Given the description of an element on the screen output the (x, y) to click on. 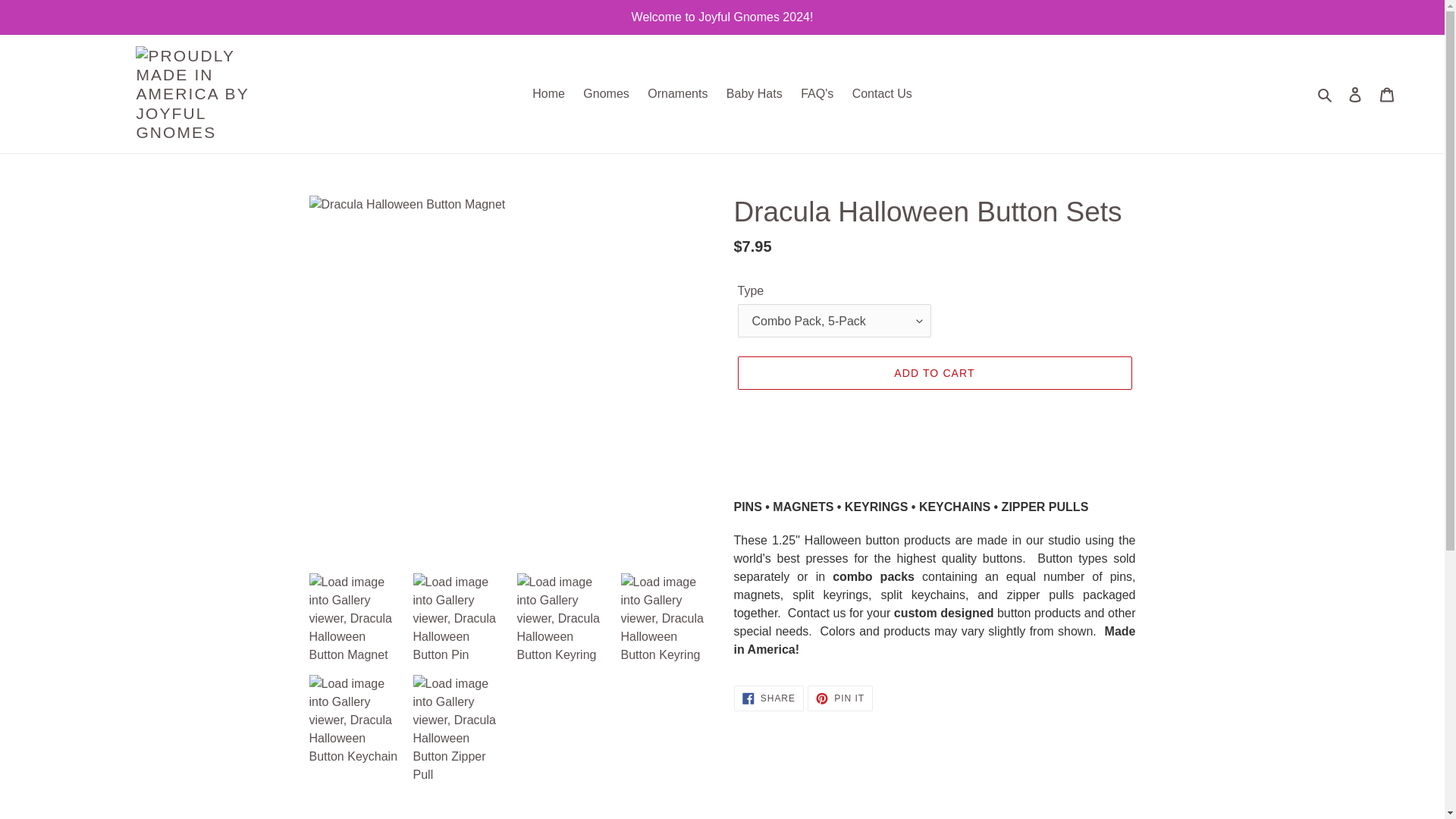
FAQ's (817, 93)
Log in (1355, 93)
ADD TO CART (933, 372)
Search (1326, 94)
Ornaments (677, 93)
Baby Hats (754, 93)
Home (548, 93)
Cart (840, 698)
Gnomes (1387, 93)
Contact Us (605, 93)
